Given the description of an element on the screen output the (x, y) to click on. 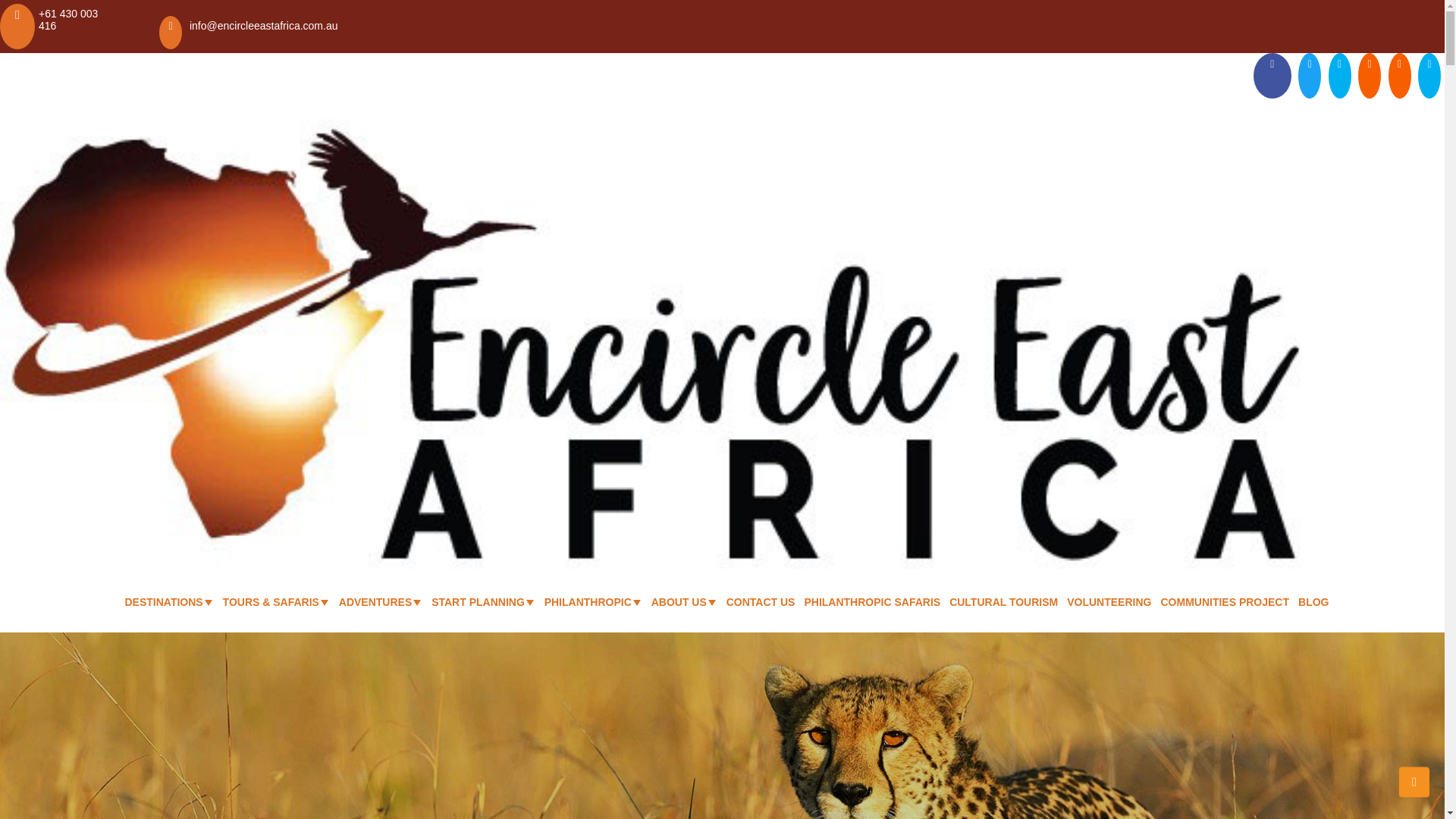
DESTINATIONS (162, 601)
